Given the description of an element on the screen output the (x, y) to click on. 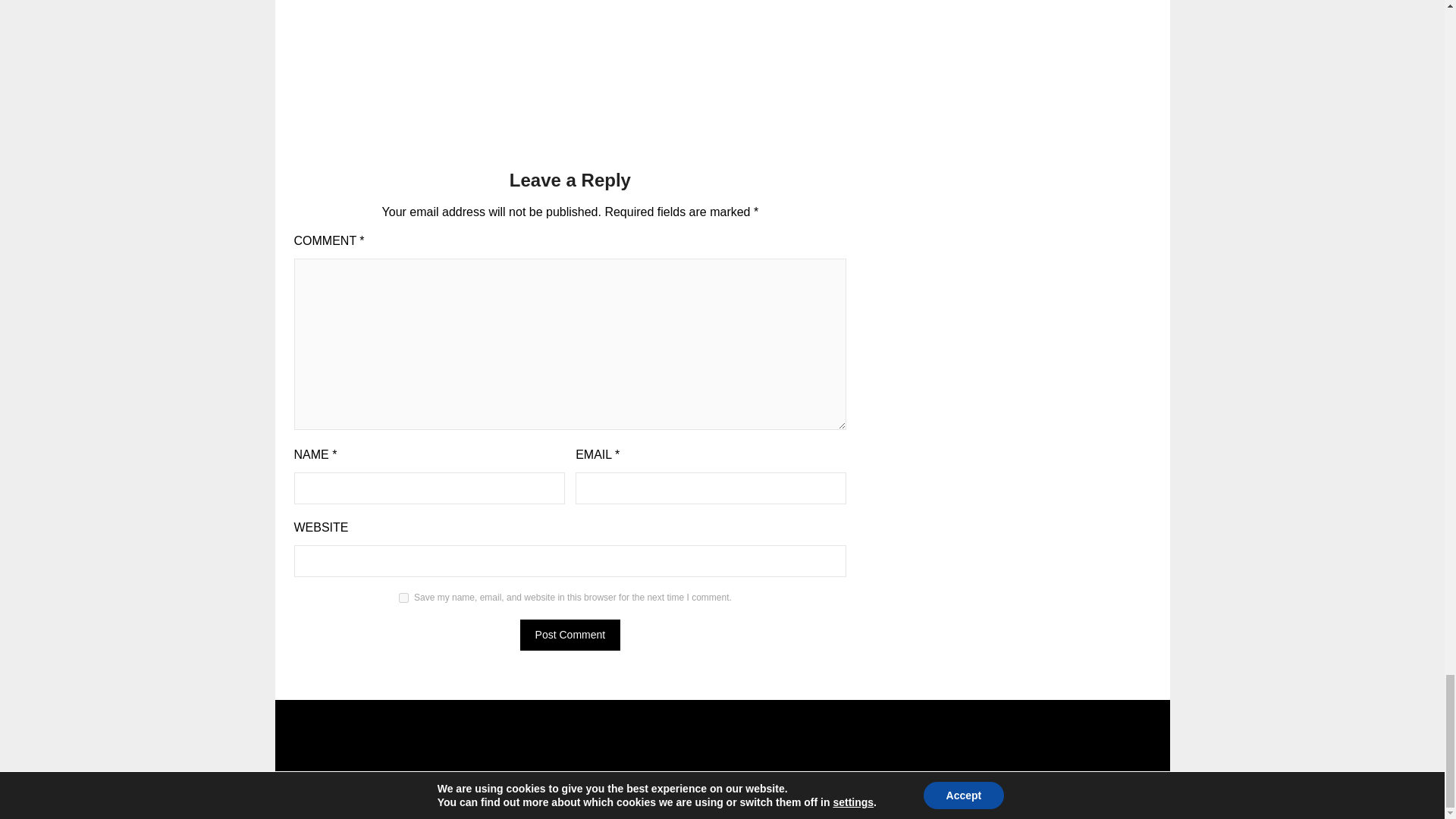
yes (403, 597)
Newspaperly WordPress Theme (806, 797)
Post Comment (570, 634)
Post Comment (570, 634)
